Given the description of an element on the screen output the (x, y) to click on. 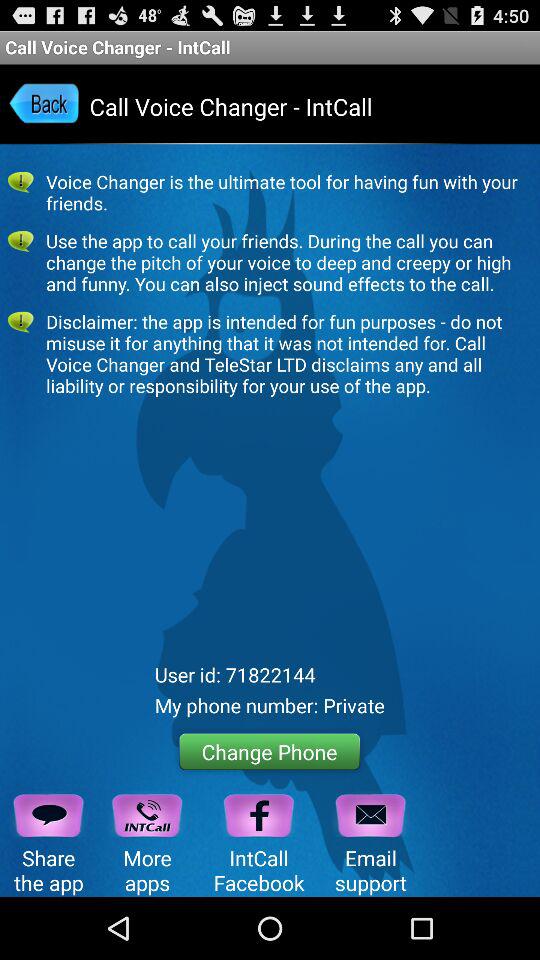
flip to the change phone item (269, 751)
